Given the description of an element on the screen output the (x, y) to click on. 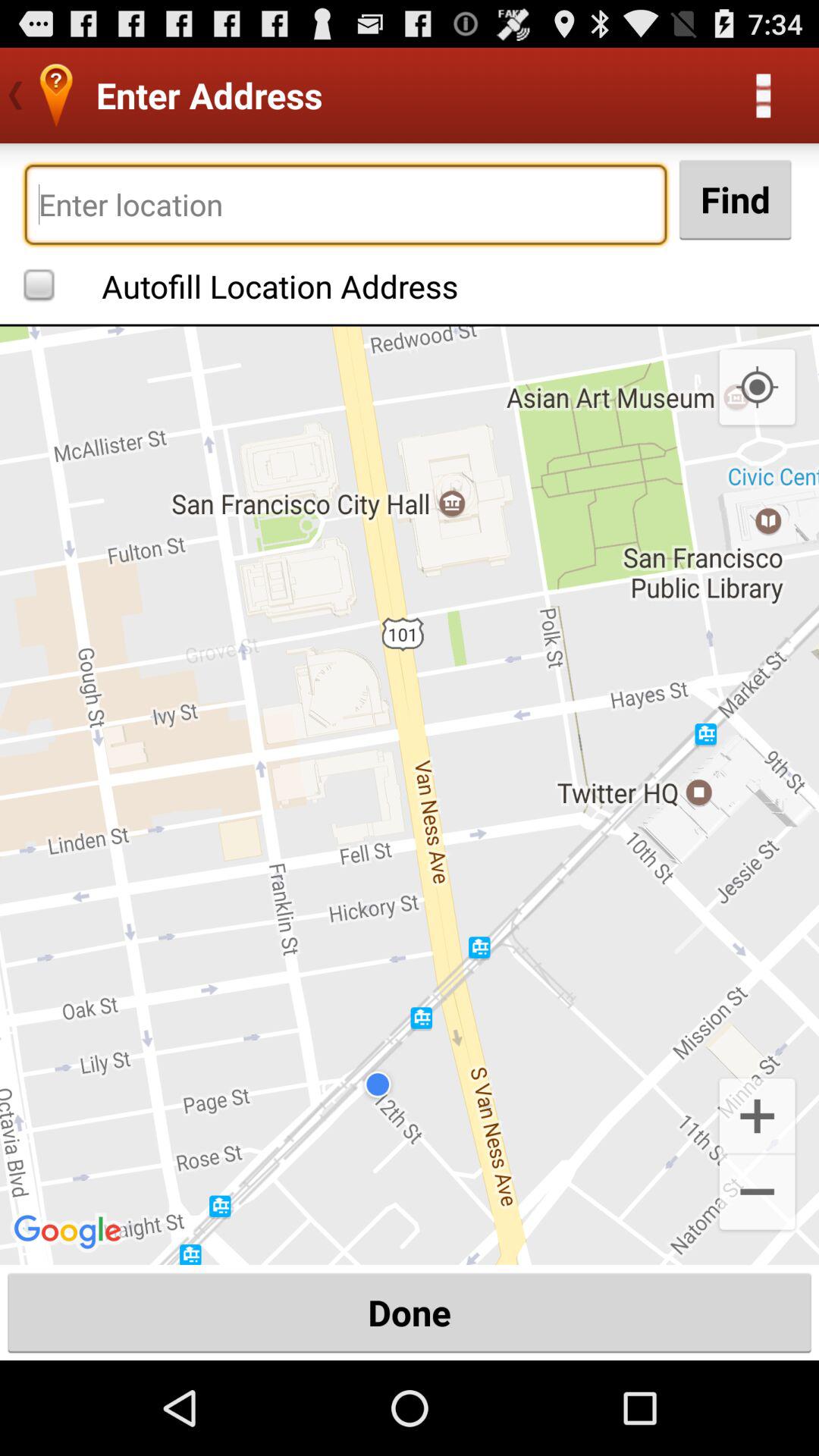
click the icon next to enter address icon (763, 95)
